Given the description of an element on the screen output the (x, y) to click on. 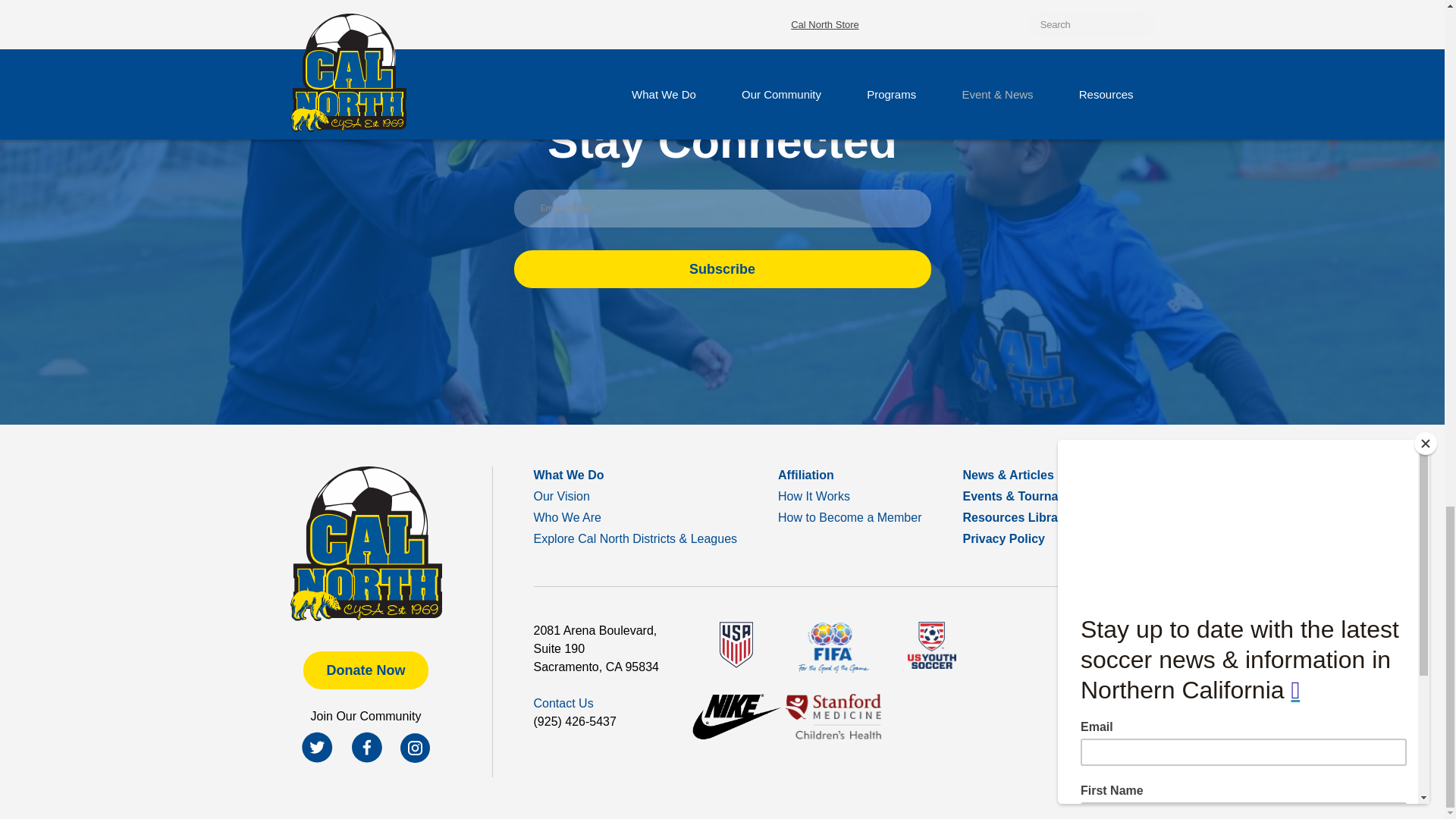
Donate Now (365, 670)
Subscribe (722, 269)
Cal North a Community and Kid First Organization (365, 543)
